Given the description of an element on the screen output the (x, y) to click on. 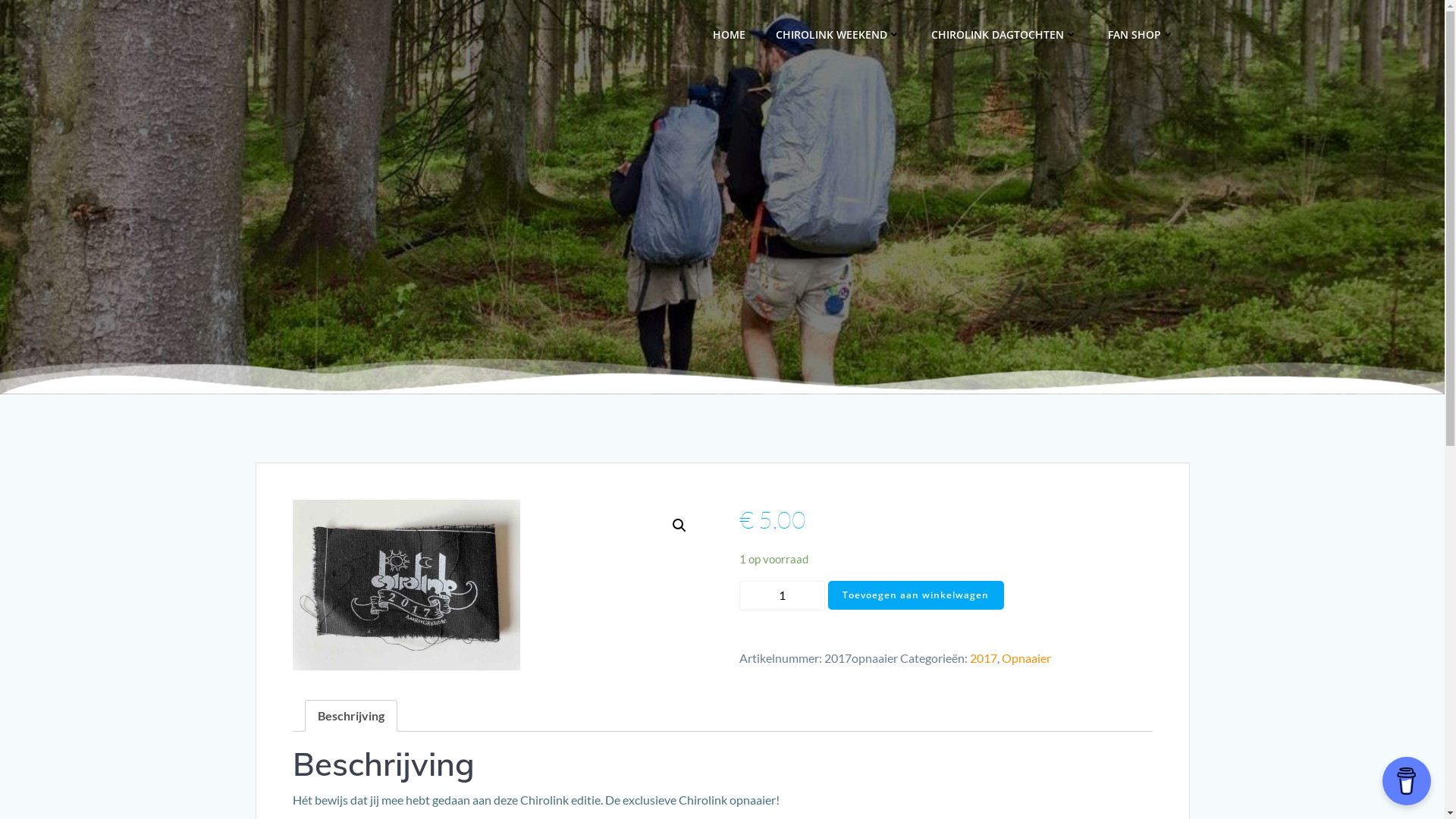
CHIROLINK WEEKEND Element type: text (837, 33)
Aantal Element type: hover (782, 595)
Toevoegen aan winkelwagen Element type: text (915, 594)
Beschrijving Element type: text (349, 715)
Opnaaier Element type: text (1026, 657)
FAN SHOP Element type: text (1140, 33)
2017 Element type: text (983, 657)
HOME Element type: text (728, 33)
Opnaaier 2017 Element type: hover (406, 584)
CHIROLINK DAGTOCHTEN Element type: text (1004, 33)
